Given the description of an element on the screen output the (x, y) to click on. 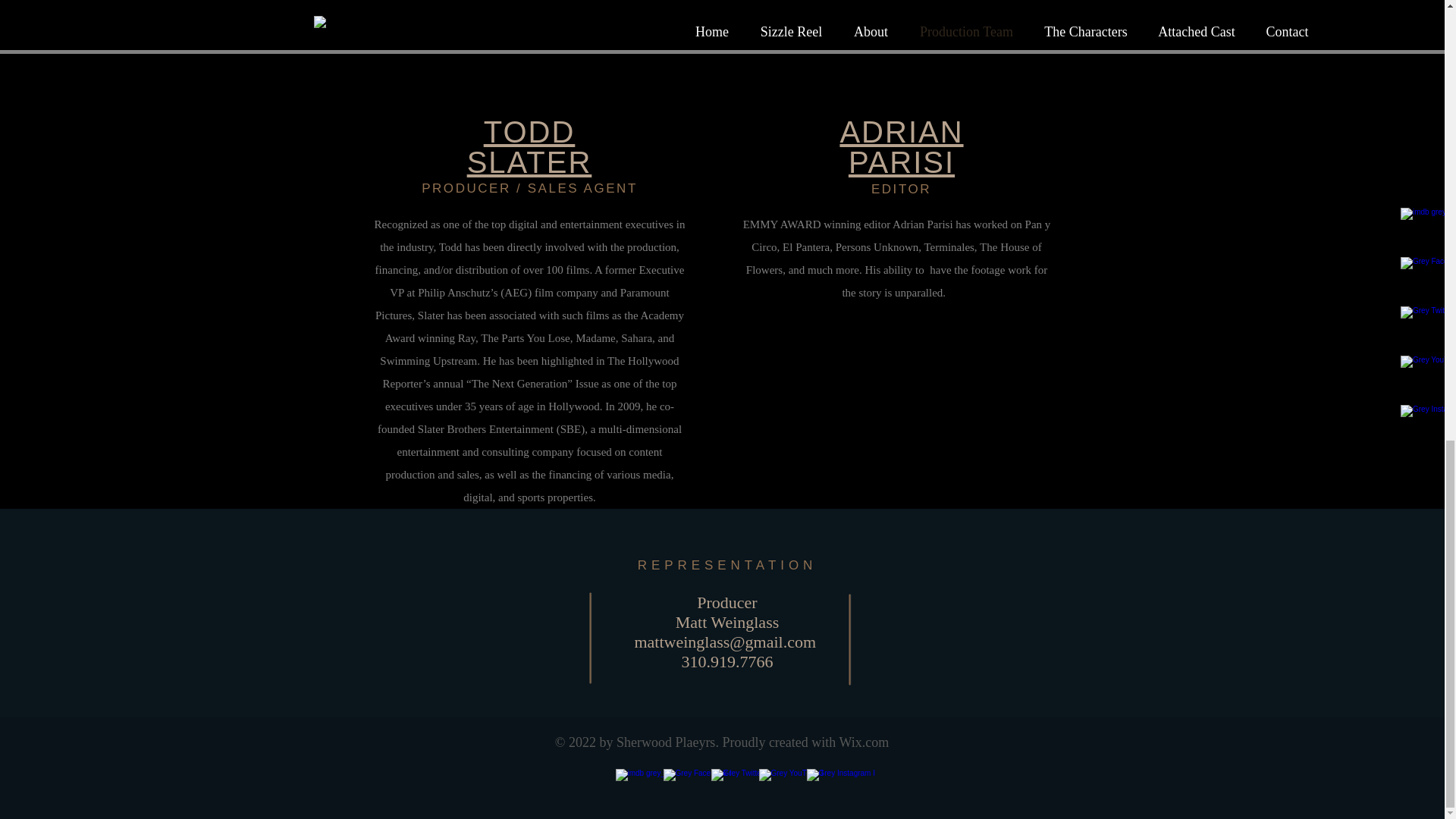
TODD SLATER (529, 147)
Matt Weinglass (726, 621)
Wix.com (864, 742)
ADRIAN PARISI (901, 147)
